Given the description of an element on the screen output the (x, y) to click on. 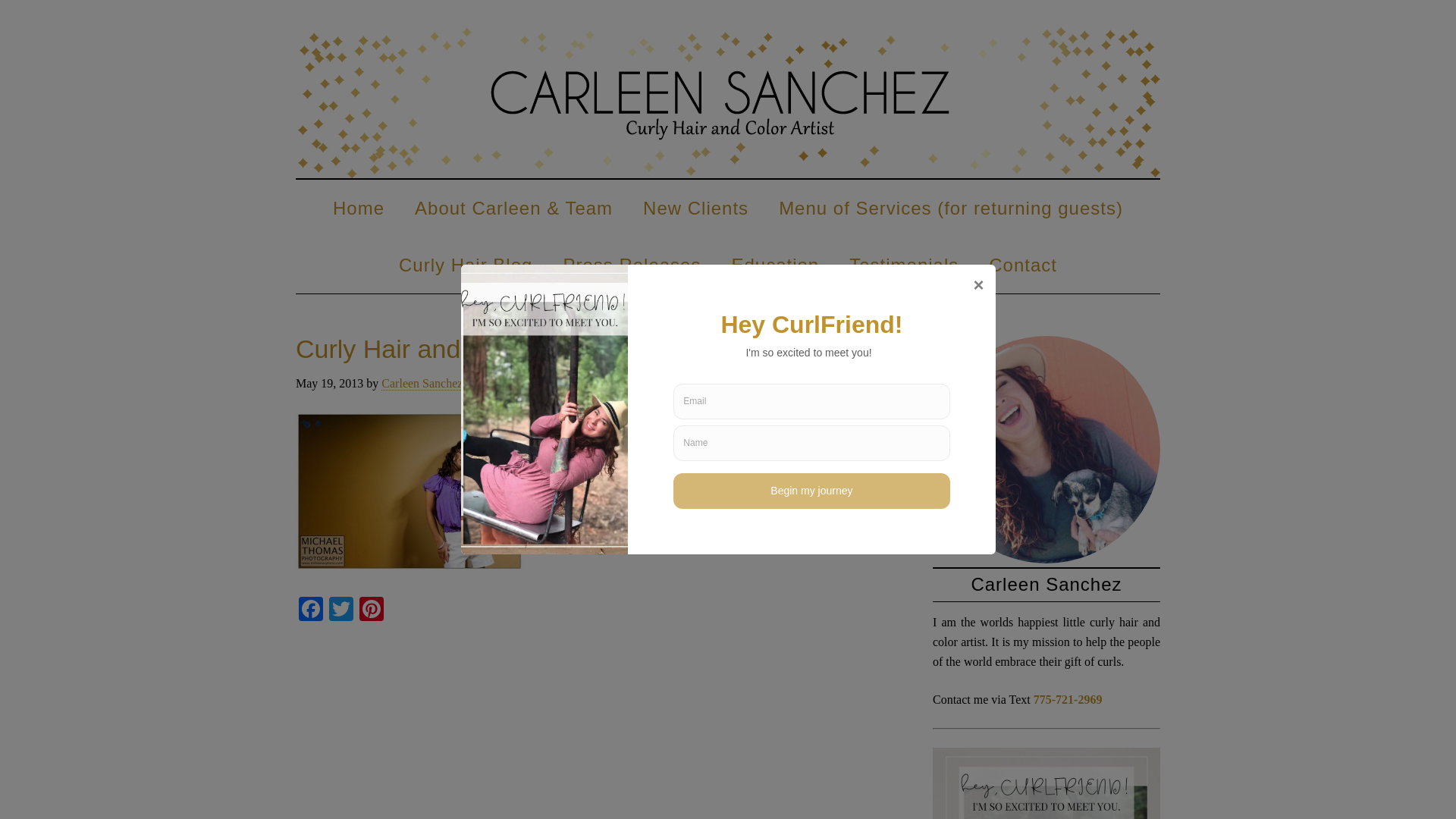
Curly Hair Blog (465, 264)
Facebook (310, 610)
Contact (1022, 264)
Pinterest (371, 610)
New Clients (694, 207)
Education (774, 264)
775-721-2969 (1067, 698)
Testimonials (903, 264)
Home (357, 207)
Press Releases (631, 264)
Carleen Sanchez (422, 383)
Twitter (341, 610)
Facebook (310, 610)
Carleen Sanchez (727, 102)
Twitter (341, 610)
